Given the description of an element on the screen output the (x, y) to click on. 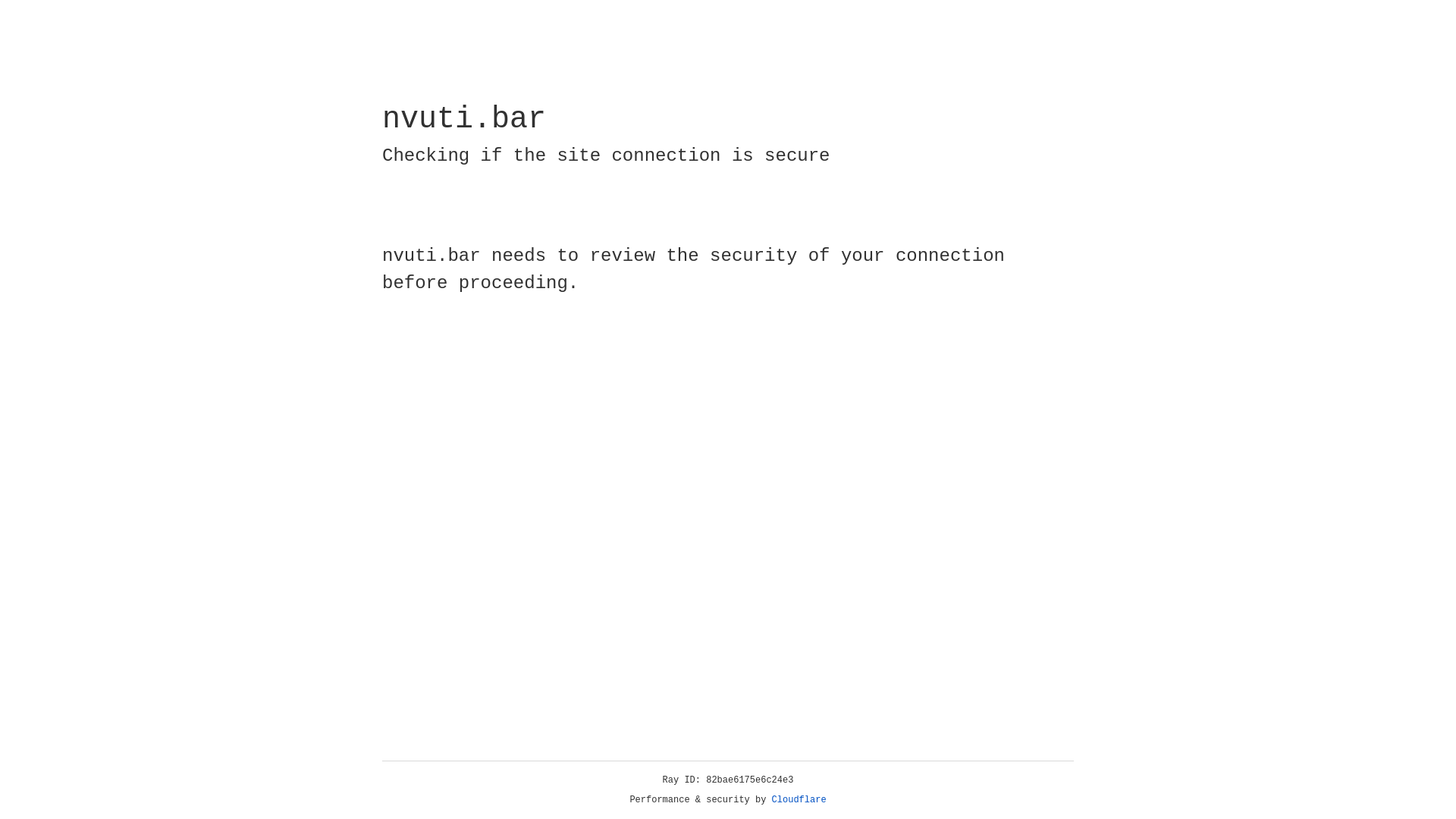
Cloudflare Element type: text (798, 799)
